Given the description of an element on the screen output the (x, y) to click on. 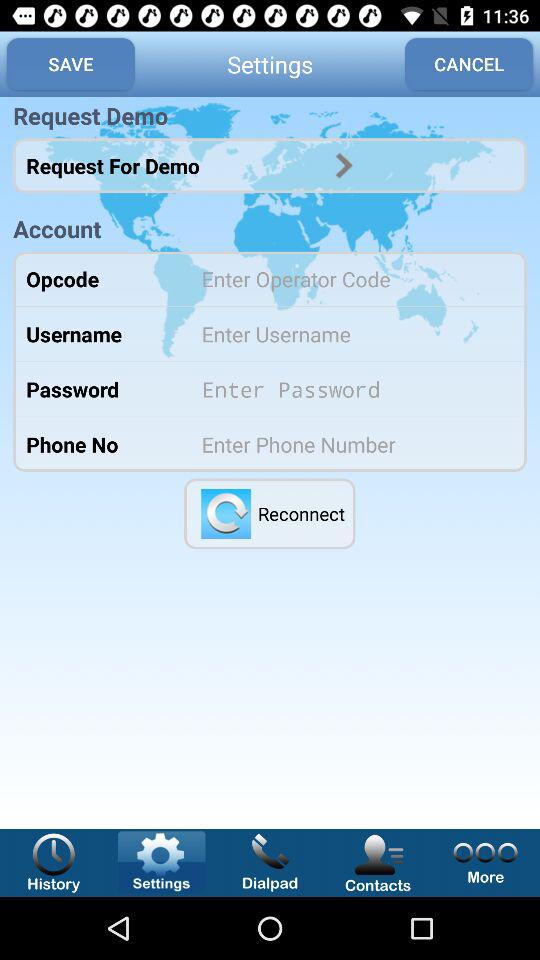
go to next option (344, 165)
